Given the description of an element on the screen output the (x, y) to click on. 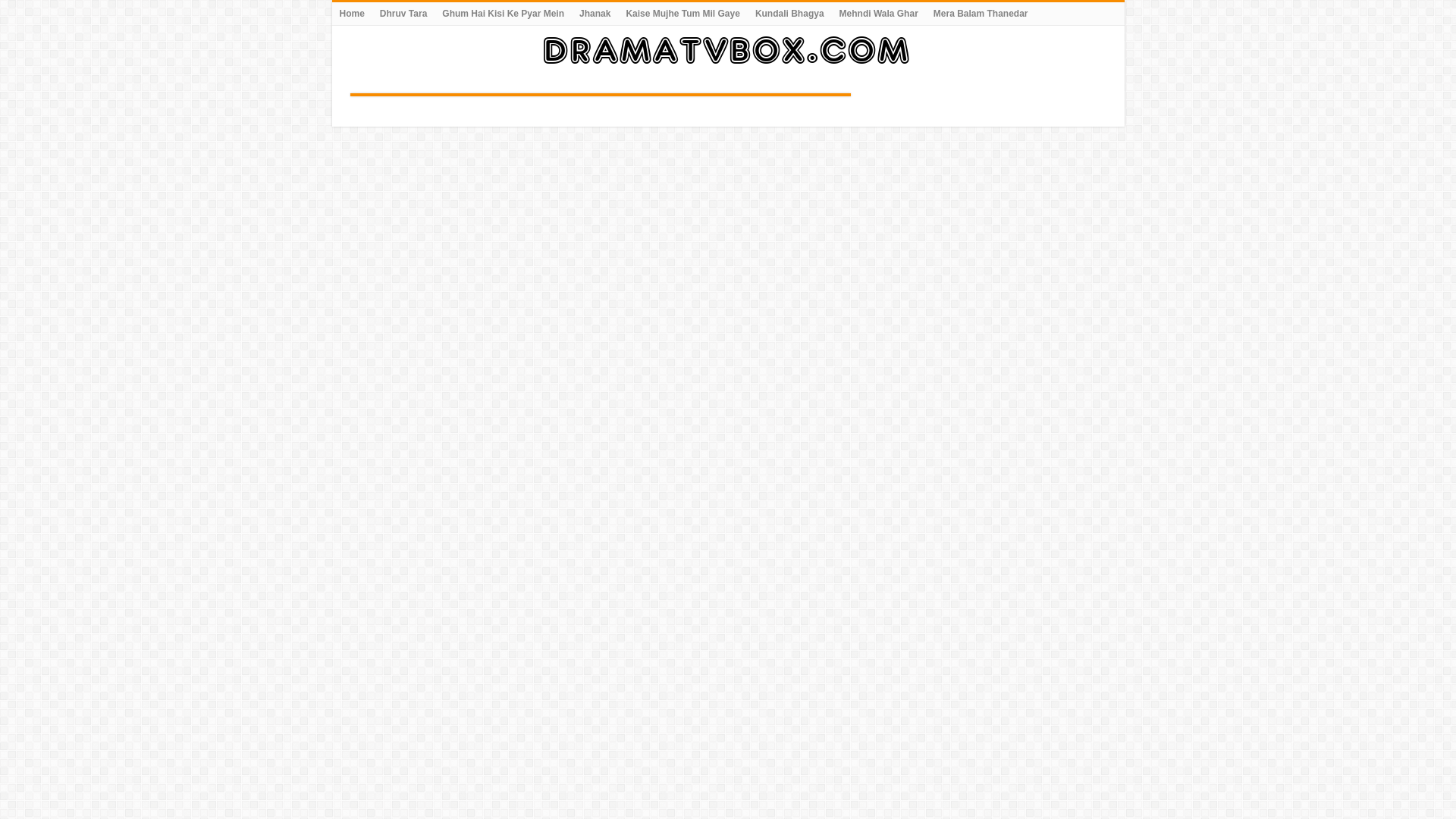
Kaise Mujhe Tum Mil Gaye (681, 13)
Drama Tv Box (727, 47)
Home (351, 13)
Mehndi Wala Ghar (878, 13)
Jhanak (594, 13)
Ghum Hai Kisi Ke Pyar Mein (502, 13)
Dhruv Tara (402, 13)
Mera Balam Thanedar (980, 13)
Kundali Bhagya (789, 13)
